Given the description of an element on the screen output the (x, y) to click on. 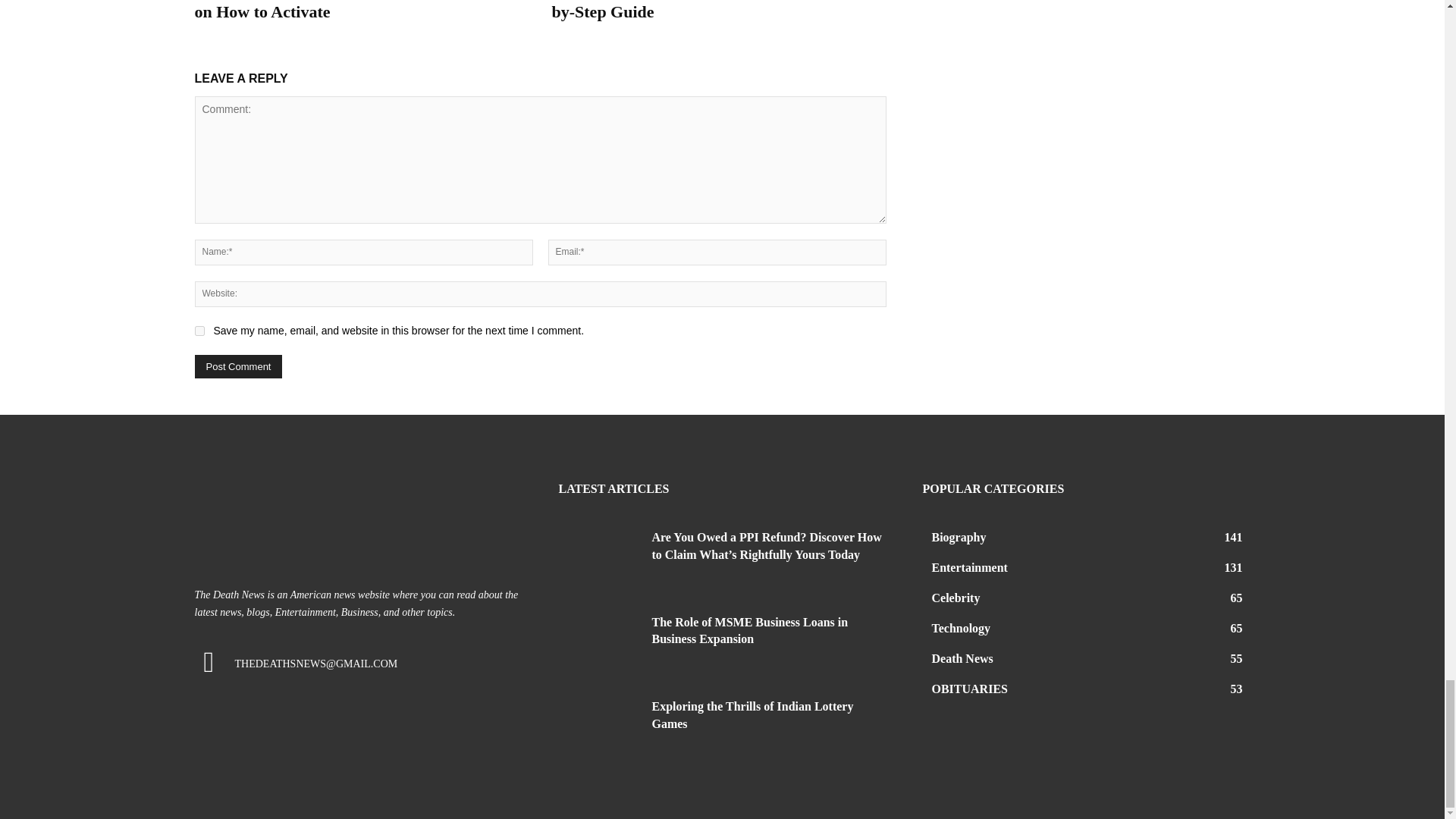
Post Comment (237, 366)
yes (198, 330)
